Given the description of an element on the screen output the (x, y) to click on. 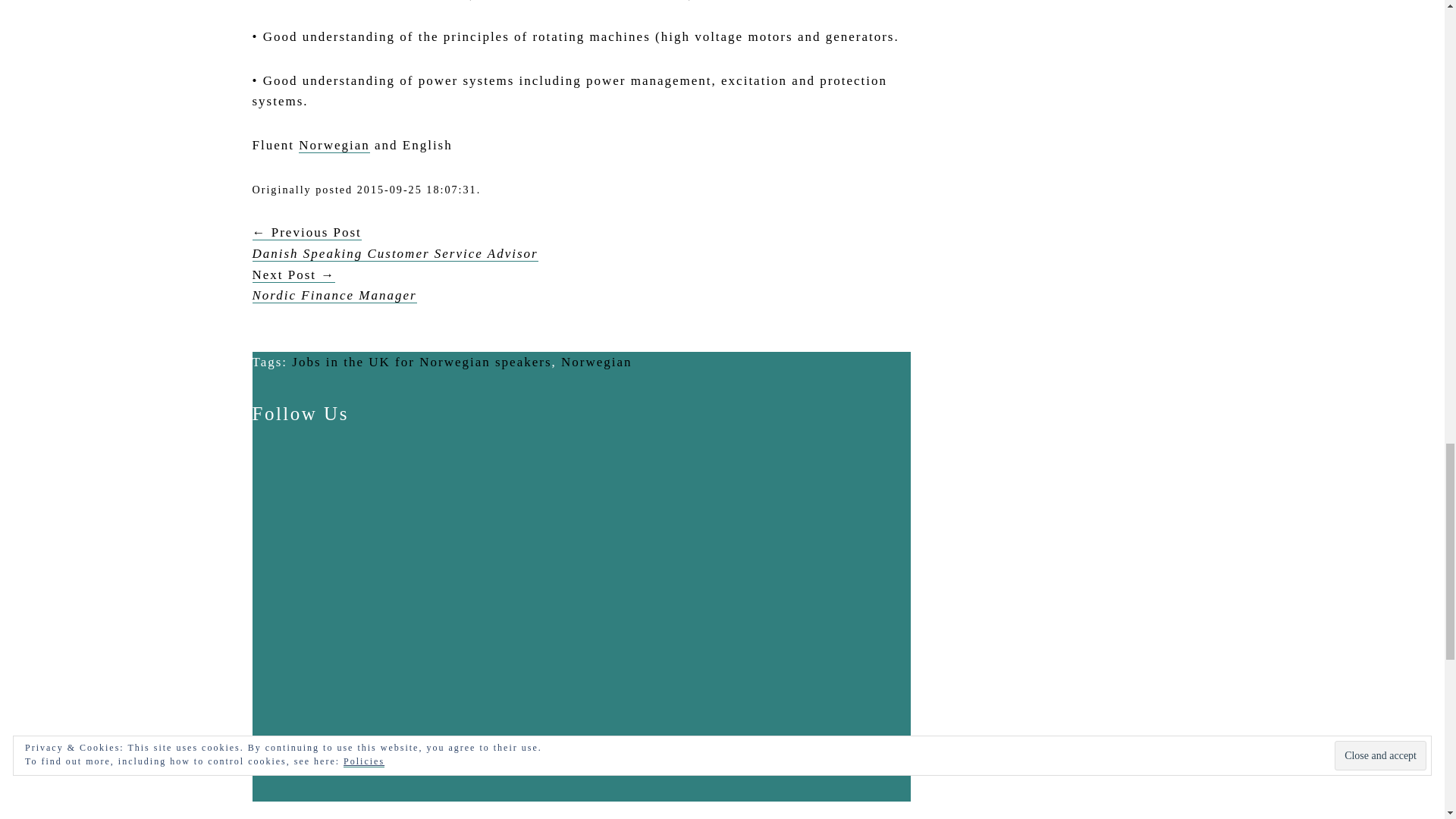
LinkedIn (365, 670)
Jobs in the UK for Norwegian speakers (421, 362)
Facebook (365, 549)
Jobs in the UK for Norwegian speakers (421, 362)
Norwegian (595, 362)
Norwegian (333, 145)
Twitter (365, 791)
Norwegian (595, 362)
